Given the description of an element on the screen output the (x, y) to click on. 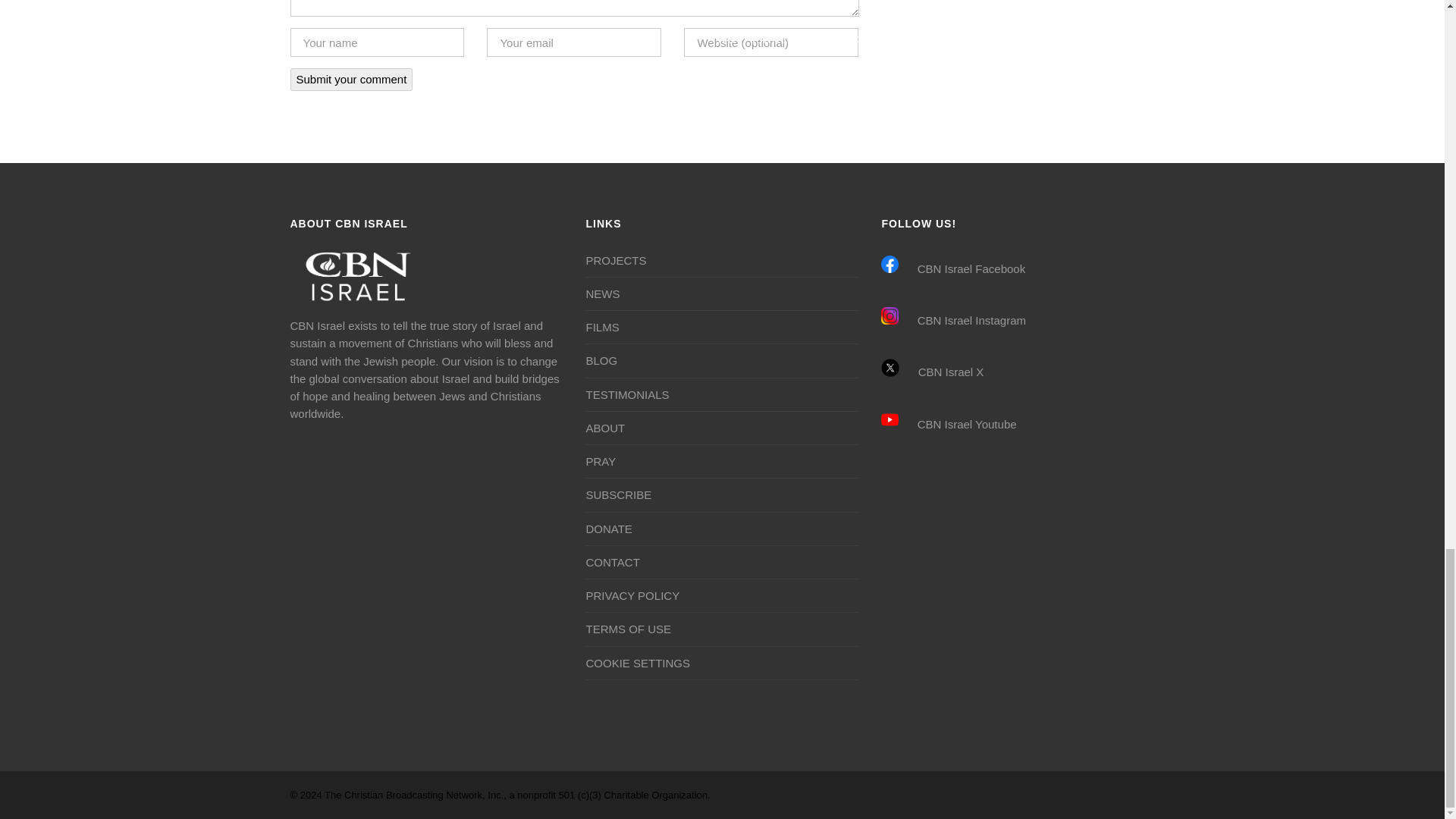
Submit your comment (350, 78)
FILMS (601, 326)
Submit your comment (350, 78)
NEWS (602, 293)
PROJECTS (615, 260)
